Given the description of an element on the screen output the (x, y) to click on. 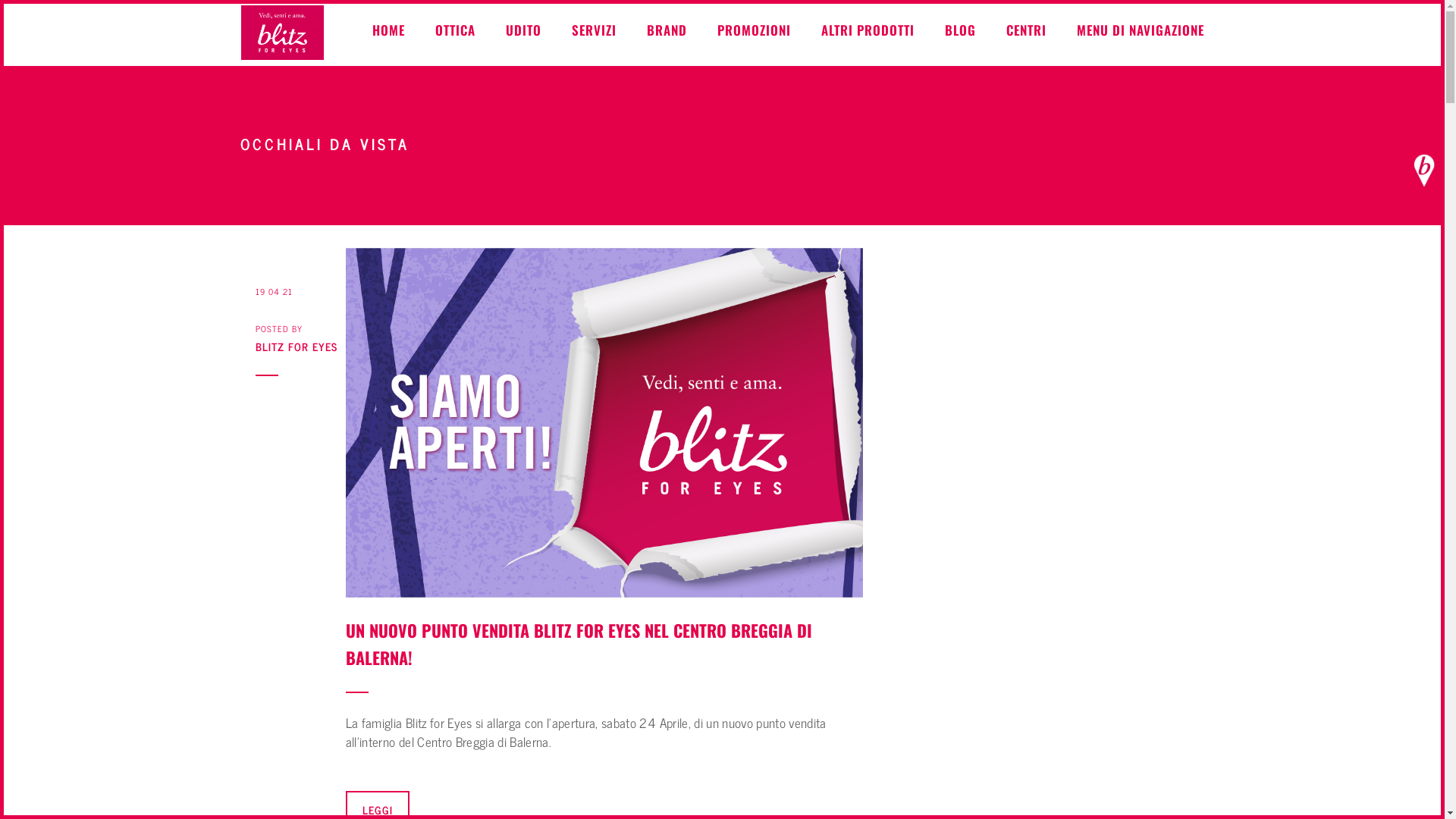
ALTRI PRODOTTI Element type: text (866, 30)
UDITO Element type: text (522, 30)
PROMOZIONI Element type: text (753, 30)
BLITZ FOR EYES Element type: text (300, 346)
MENU DI NAVIGAZIONE Element type: text (1140, 30)
BRAND Element type: text (666, 30)
HOME Element type: text (387, 30)
SERVIZI Element type: text (593, 30)
BLOG Element type: text (959, 30)
CENTRI Element type: text (1025, 30)
OTTICA Element type: text (455, 30)
